Given the description of an element on the screen output the (x, y) to click on. 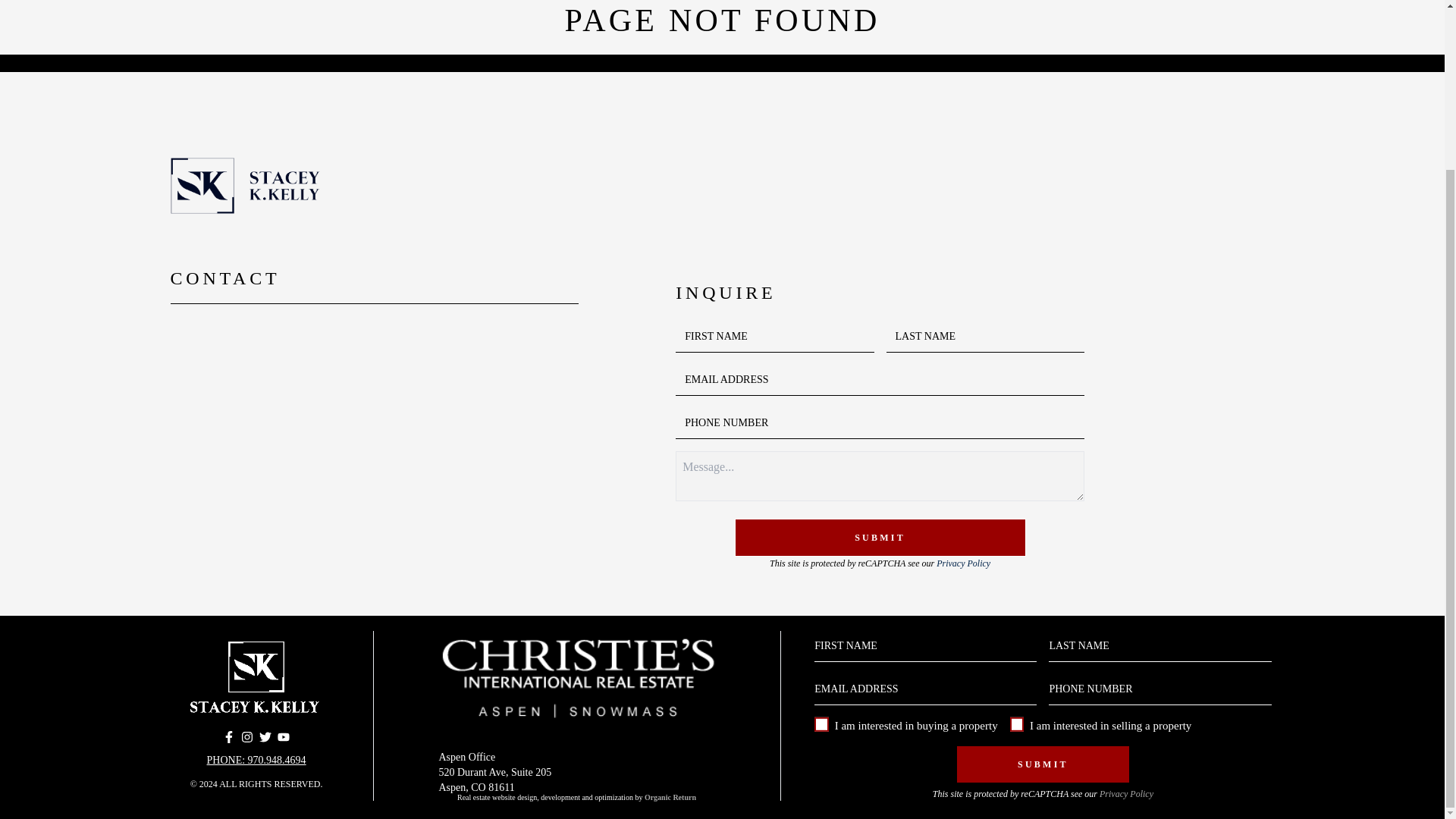
on (820, 724)
Rulon Kelly Facebook (228, 736)
Snowmass Brokers on Youtube (283, 736)
Rulon Kelly Twitter (264, 736)
on (1016, 724)
Rulon Kelly Instagram (247, 736)
